Given the description of an element on the screen output the (x, y) to click on. 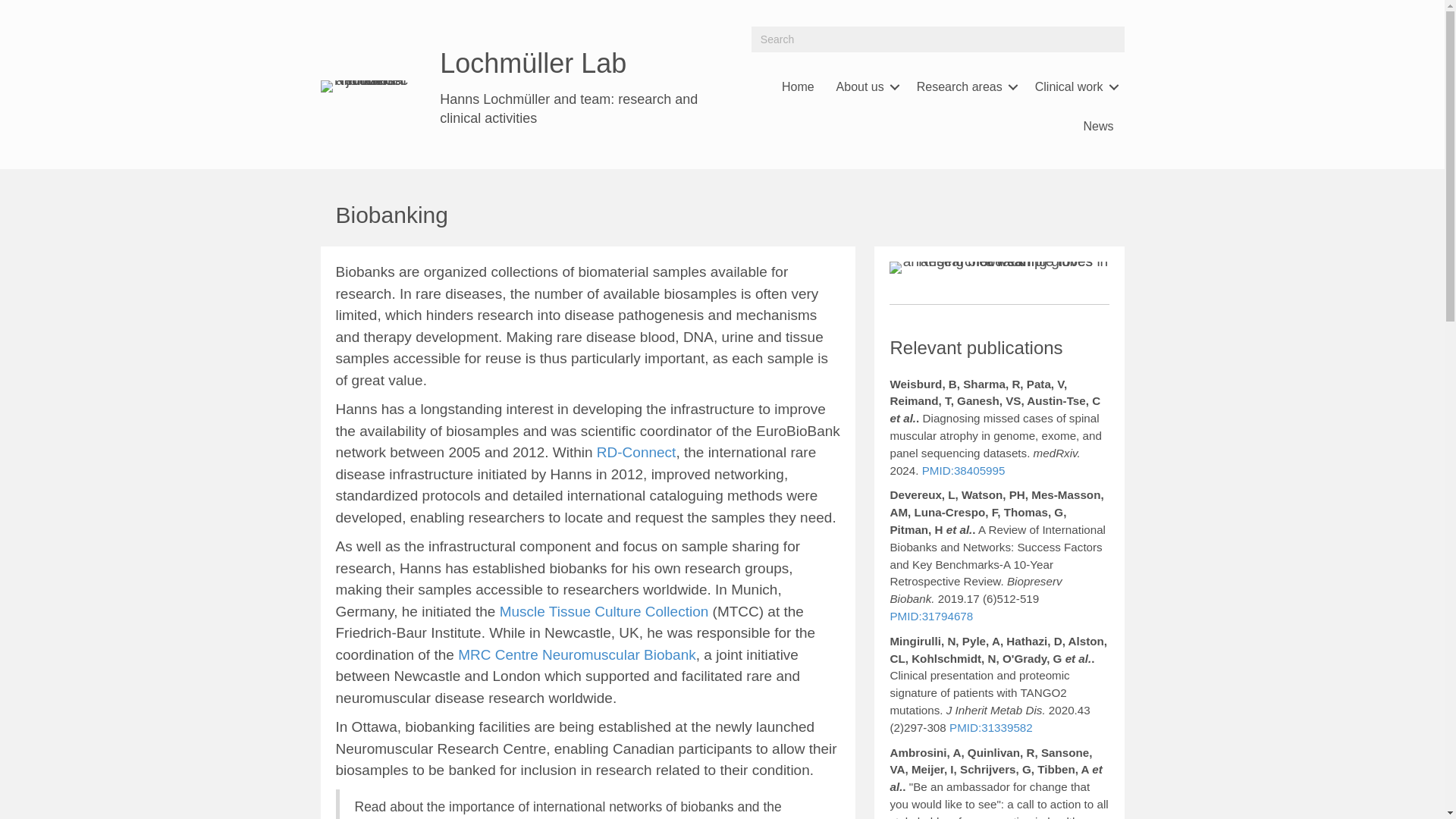
About us (865, 87)
Home (798, 87)
Research areas (964, 87)
samples (998, 267)
Type and press Enter to search. (937, 39)
